Given the description of an element on the screen output the (x, y) to click on. 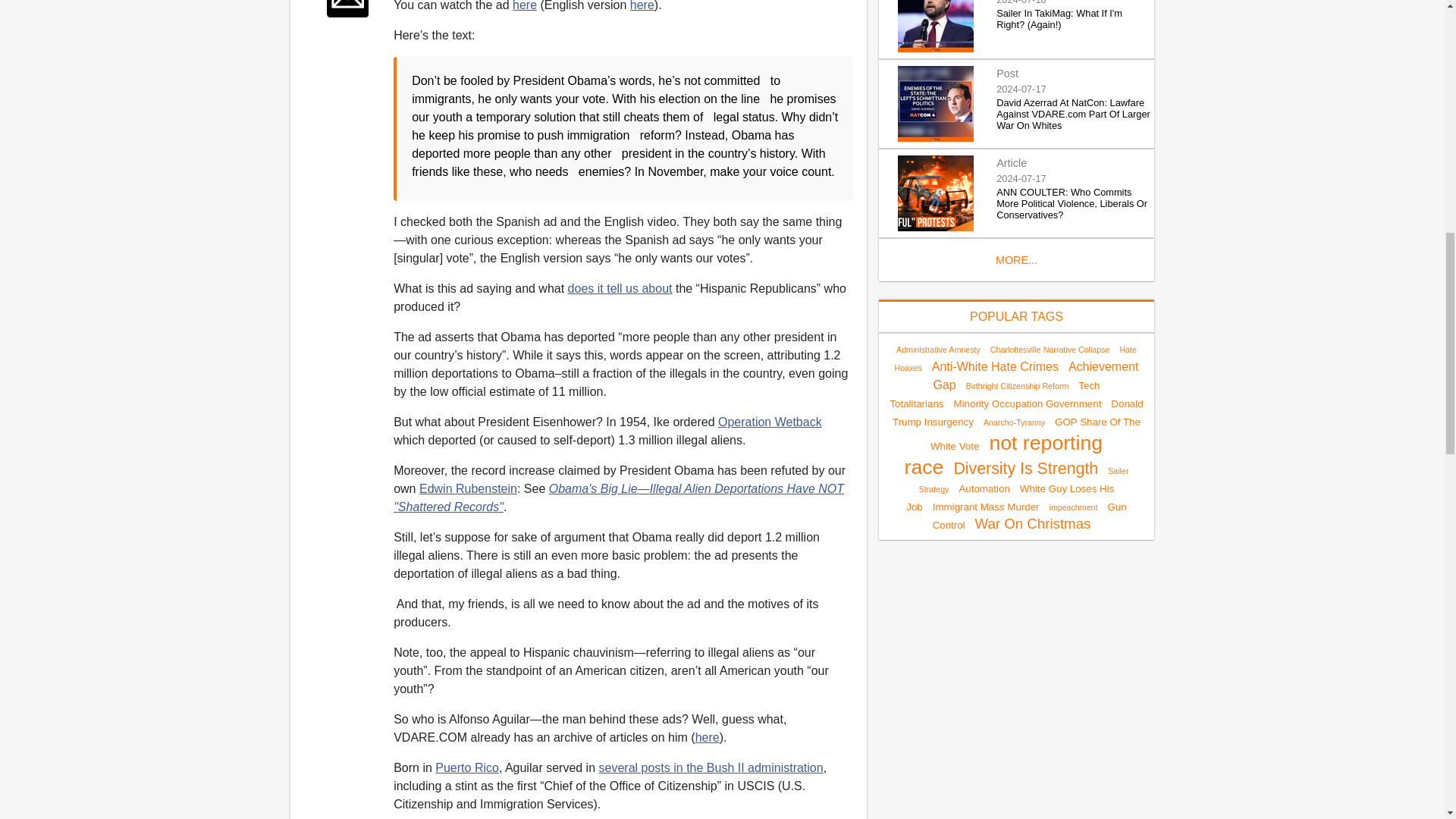
Share to Email (347, 8)
